Given the description of an element on the screen output the (x, y) to click on. 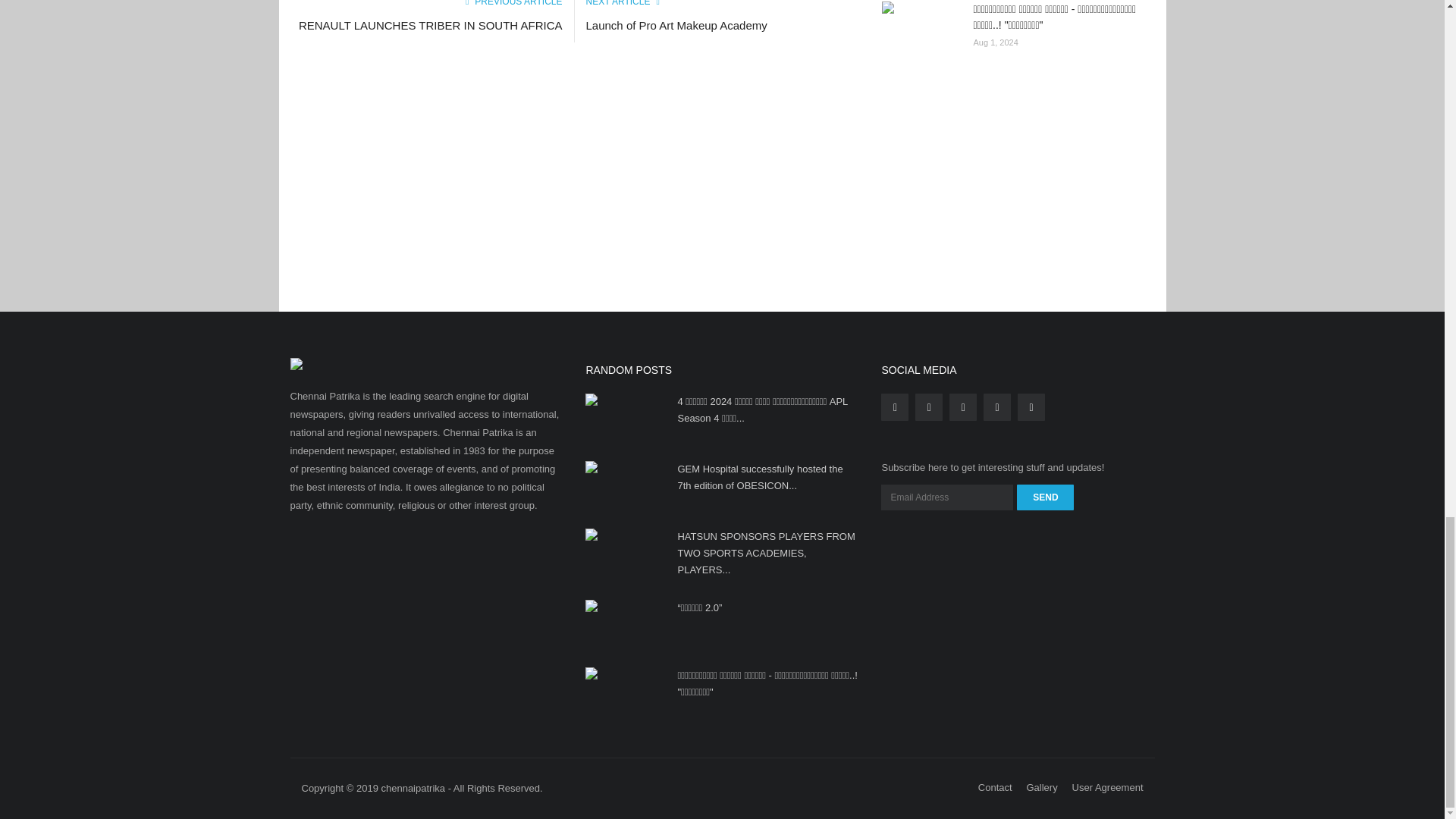
Send (1045, 497)
